Given the description of an element on the screen output the (x, y) to click on. 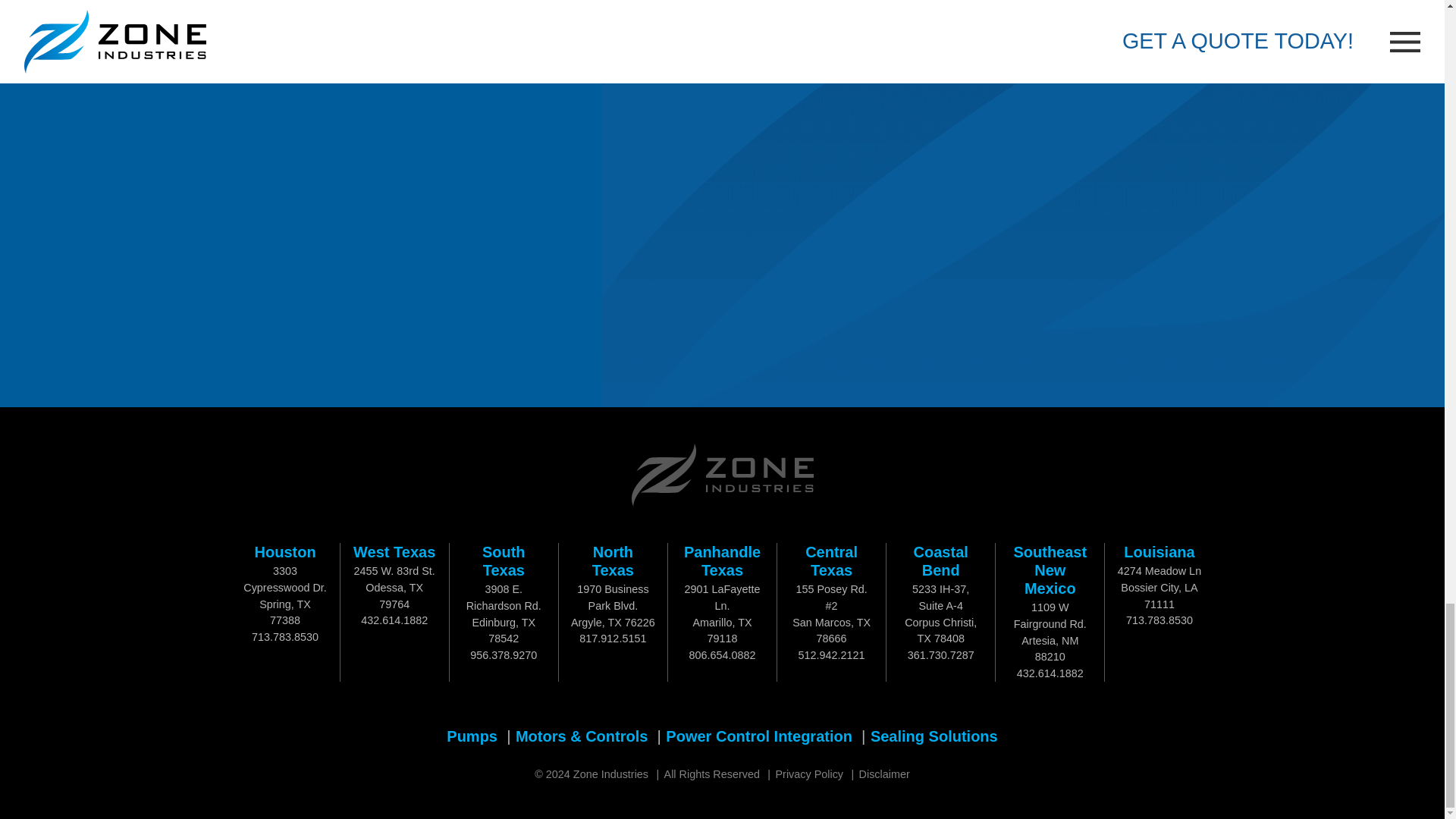
432.614.1882 (394, 620)
817.912.5151 (612, 638)
Send (698, 389)
806.654.0882 (721, 654)
713.783.8530 (284, 636)
956.378.9270 (503, 654)
